Given the description of an element on the screen output the (x, y) to click on. 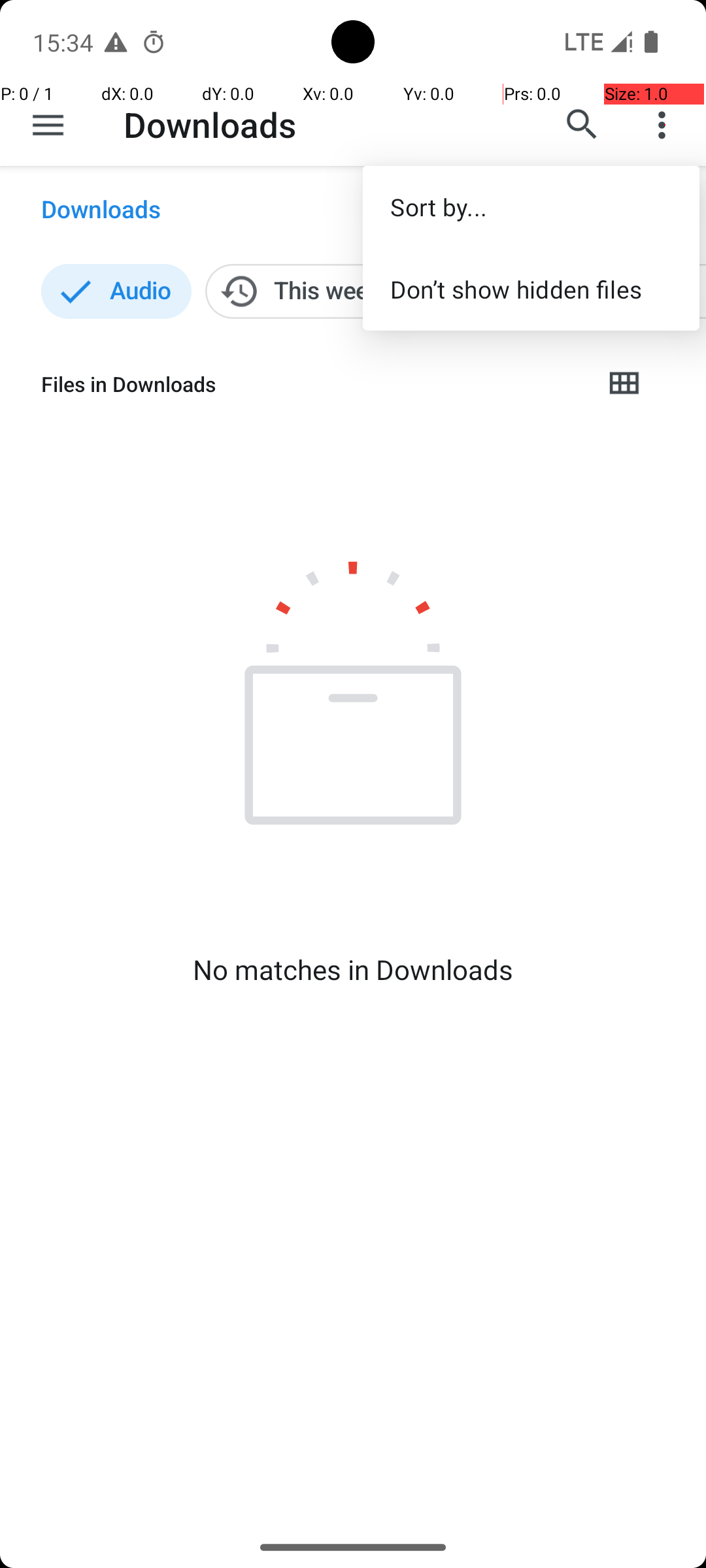
Sort by... Element type: android.widget.TextView (531, 206)
Don’t show hidden files Element type: android.widget.TextView (531, 288)
